Given the description of an element on the screen output the (x, y) to click on. 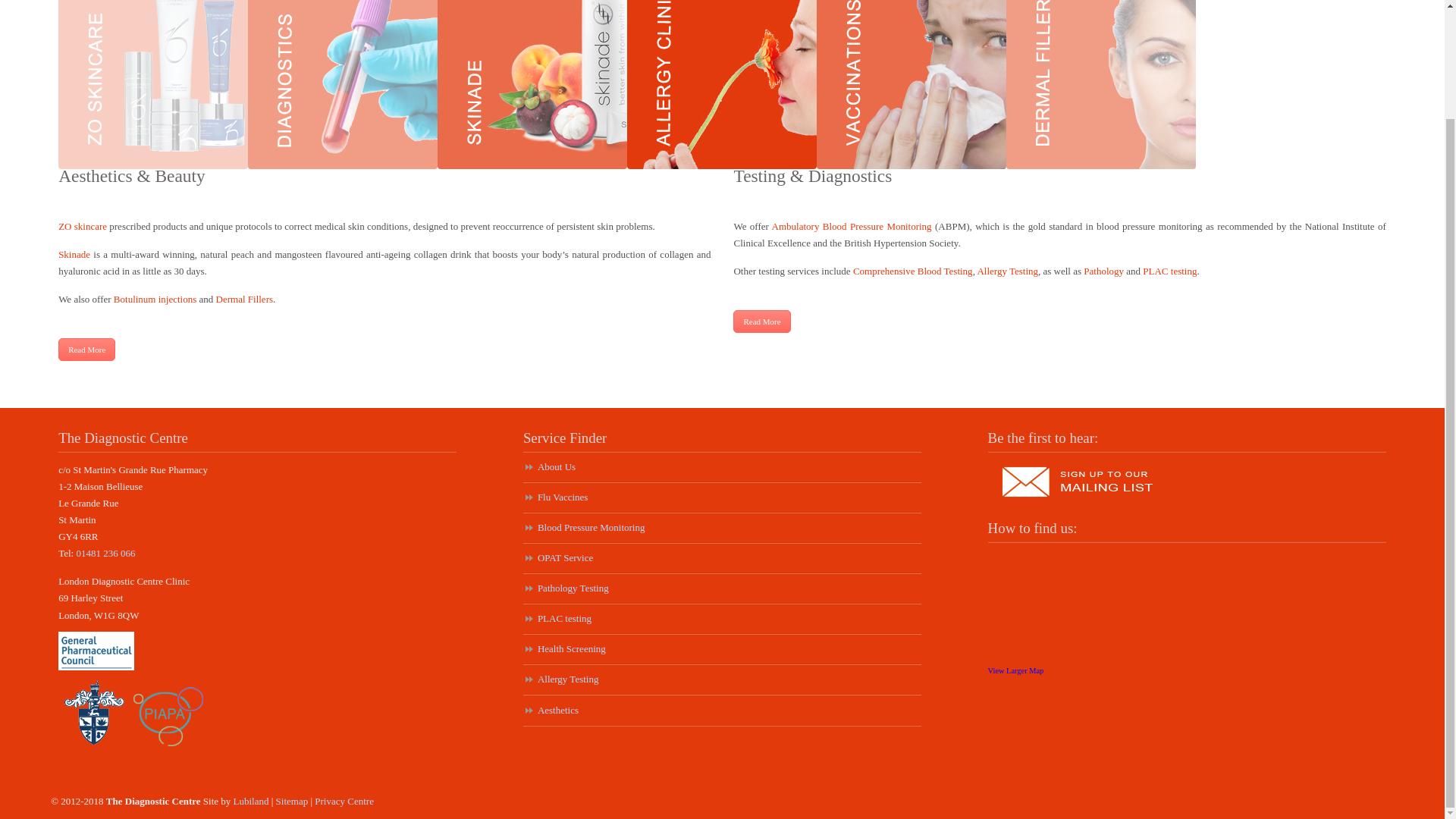
Read More (761, 321)
PLAC testing (1169, 270)
Testing and diagnostincs (761, 321)
Comprehensive Blood Testing (912, 270)
Skinade (74, 254)
Botulinum injections (154, 298)
Dermal Fillers (244, 298)
ZO skincare (82, 225)
Pathology (1103, 270)
Ambulatory Blood Pressure Monitoring (851, 225)
Allergy Testing (1007, 270)
Read More (86, 349)
01481 236 066 (105, 552)
